Given the description of an element on the screen output the (x, y) to click on. 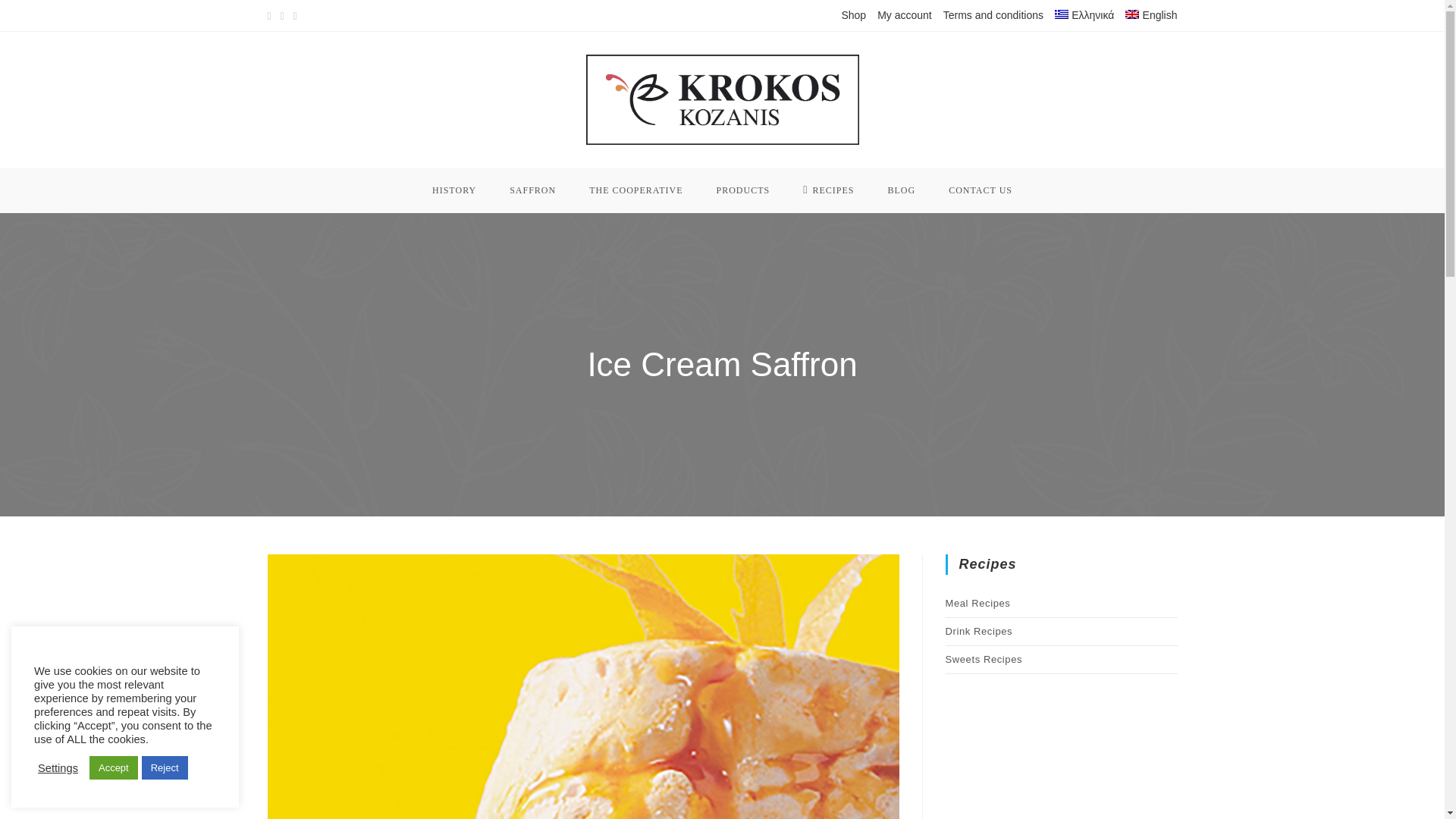
BLOG (900, 189)
English (1150, 15)
Shop (853, 15)
RECIPES (828, 189)
THE COOPERATIVE (635, 189)
My account (904, 15)
SAFFRON (532, 189)
PRODUCTS (742, 189)
Terms and conditions (993, 15)
HISTORY (453, 189)
English (1150, 15)
CONTACT US (980, 189)
